Given the description of an element on the screen output the (x, y) to click on. 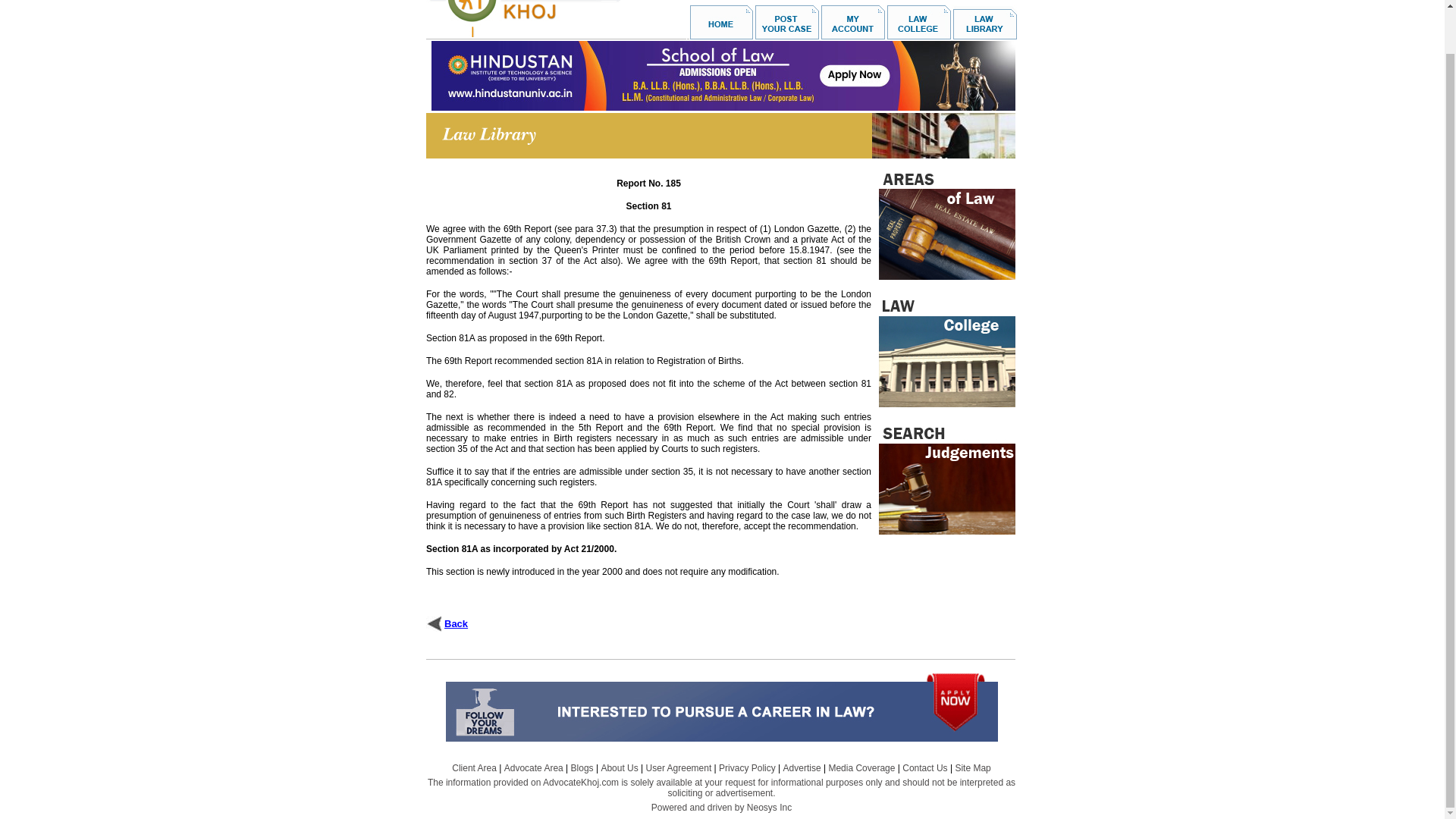
User Agreement (678, 767)
Review of the Indian Evidence Act, 1872 (433, 622)
Client Area (473, 767)
Advocate Area (533, 767)
Contact Us (924, 767)
Advertise (802, 767)
Privacy Policy (747, 767)
Media Coverage (861, 767)
Review of the Indian Evidence Act, 1872 (455, 623)
About Us (618, 767)
Back (455, 623)
Blogs (582, 767)
Site Map (972, 767)
